Given the description of an element on the screen output the (x, y) to click on. 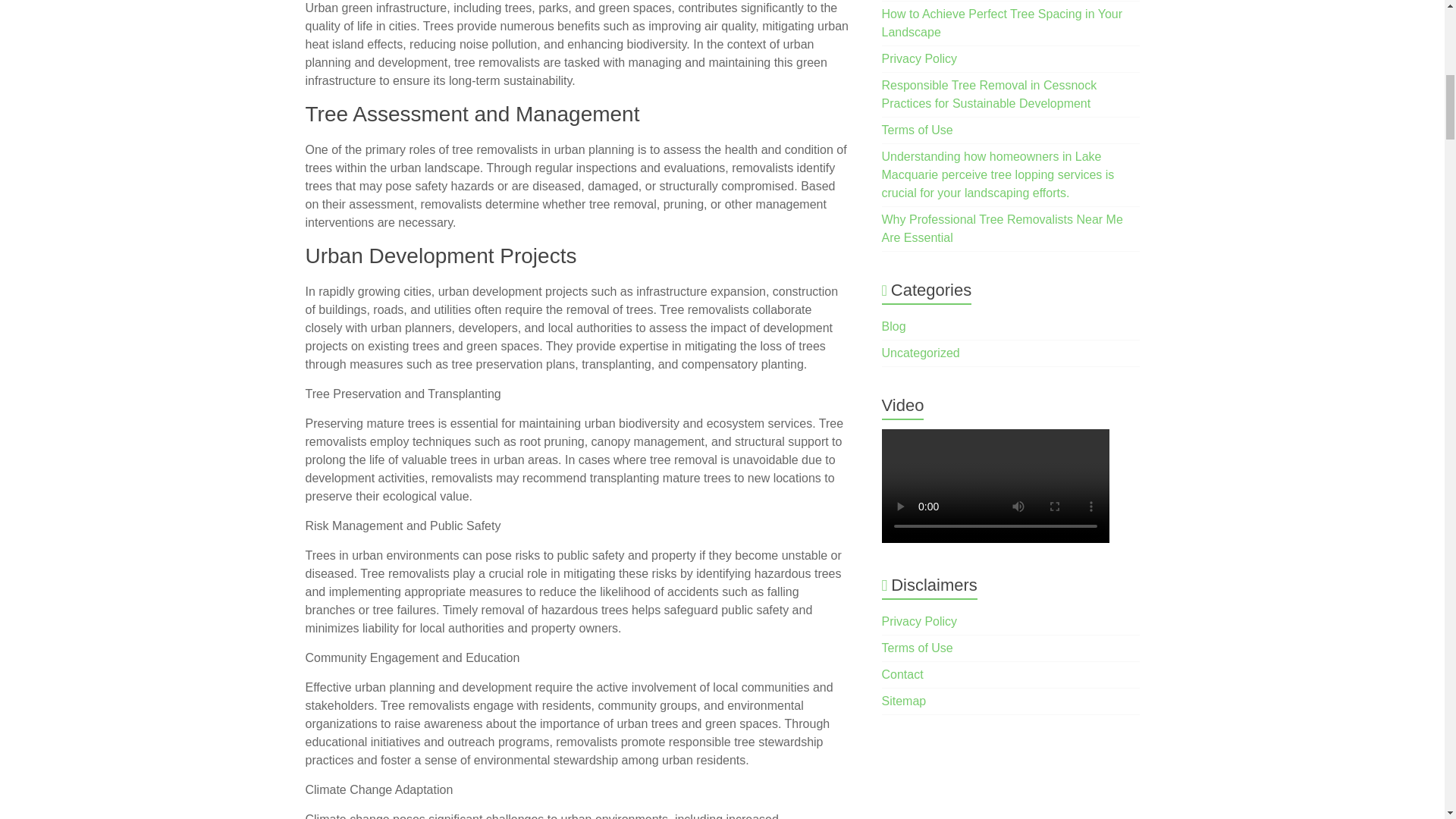
Privacy Policy (920, 58)
Terms of Use (917, 129)
How to Achieve Perfect Tree Spacing in Your Landscape (1002, 22)
